Given the description of an element on the screen output the (x, y) to click on. 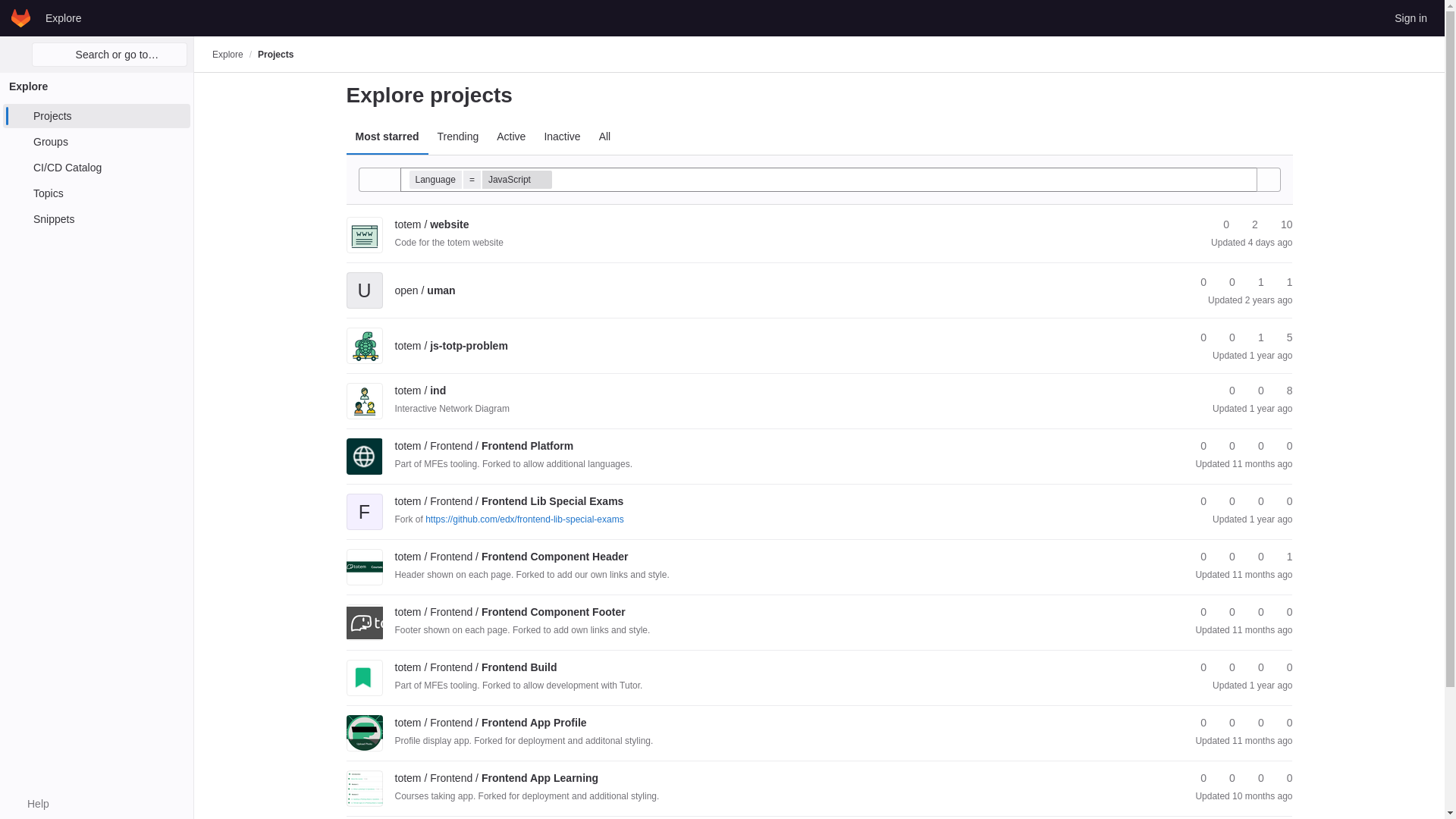
Projects (96, 115)
Groups (96, 141)
Forks (1224, 282)
Projects (275, 54)
website (431, 224)
Forks (1248, 224)
Sign in (1410, 17)
Active (510, 135)
uman (424, 290)
Homepage (20, 17)
Topics (96, 192)
Stars (1196, 282)
Help (30, 803)
Issues (1279, 224)
Explore (227, 54)
